Given the description of an element on the screen output the (x, y) to click on. 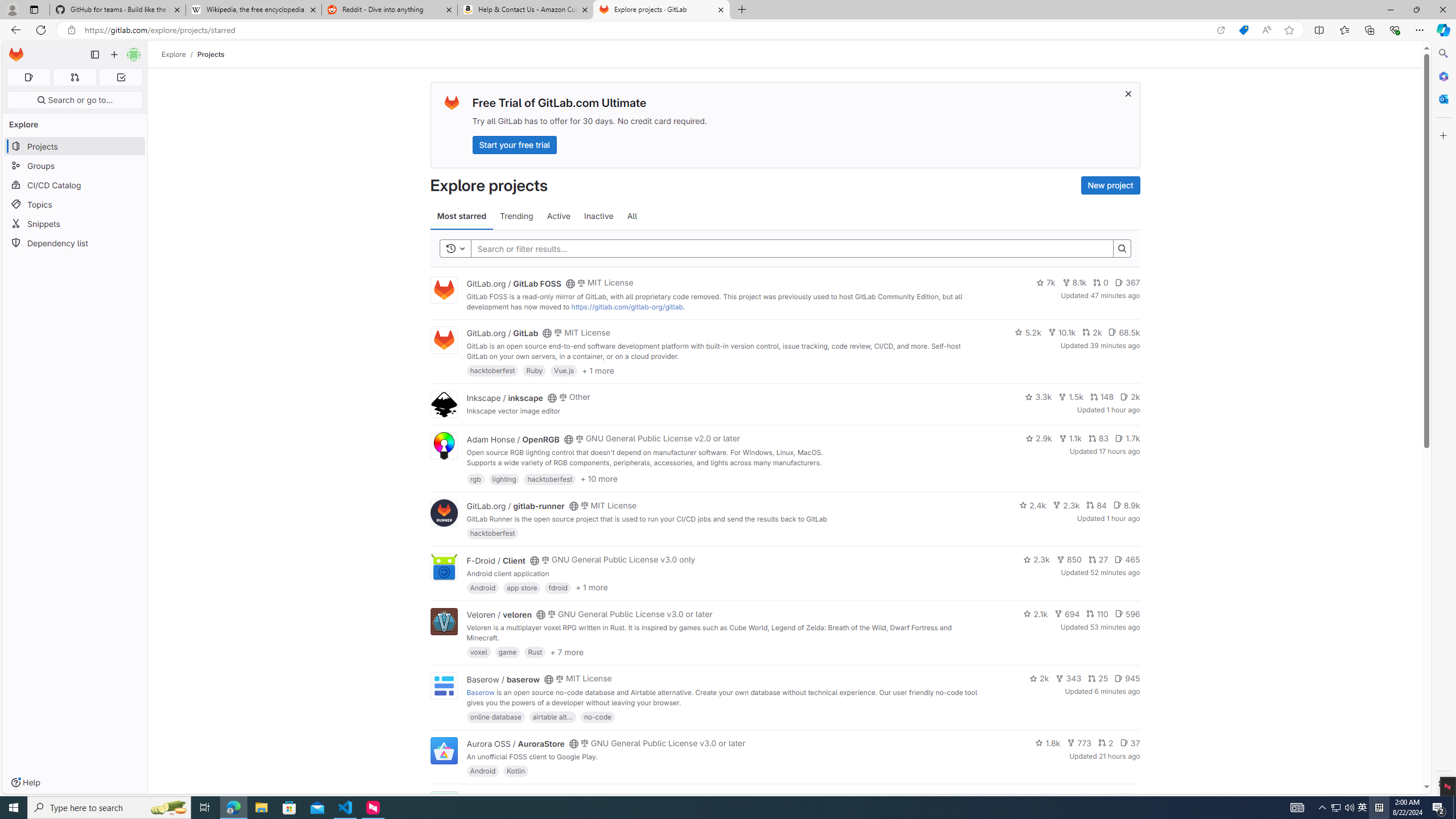
Topics (74, 203)
All (632, 216)
CI/CD Catalog (74, 185)
Skip to main content (13, 49)
Veloren / veloren (498, 614)
3.3k (1038, 396)
Create new... (113, 54)
New project (1110, 185)
945 (1127, 678)
Help & Contact Us - Amazon Customer Service (525, 9)
+ 10 more (599, 478)
lighting (504, 478)
